Given the description of an element on the screen output the (x, y) to click on. 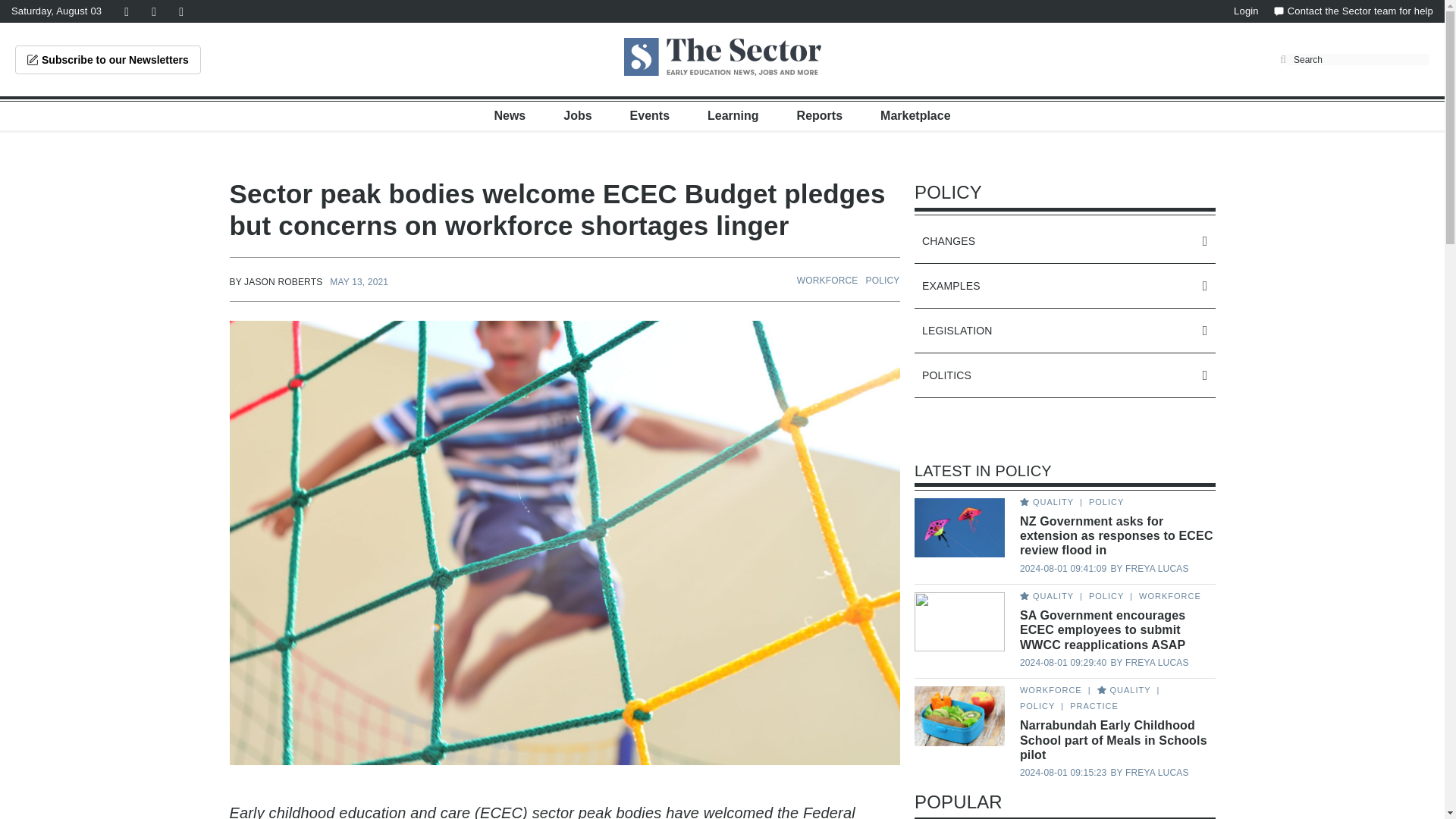
Login (1246, 11)
Learning (732, 115)
Jobs (577, 115)
Reports (819, 115)
POLICY (882, 280)
Marketplace (915, 115)
News (509, 115)
WORKFORCE (827, 280)
Events (649, 115)
Contact the Sector team for help (1353, 11)
